Given the description of an element on the screen output the (x, y) to click on. 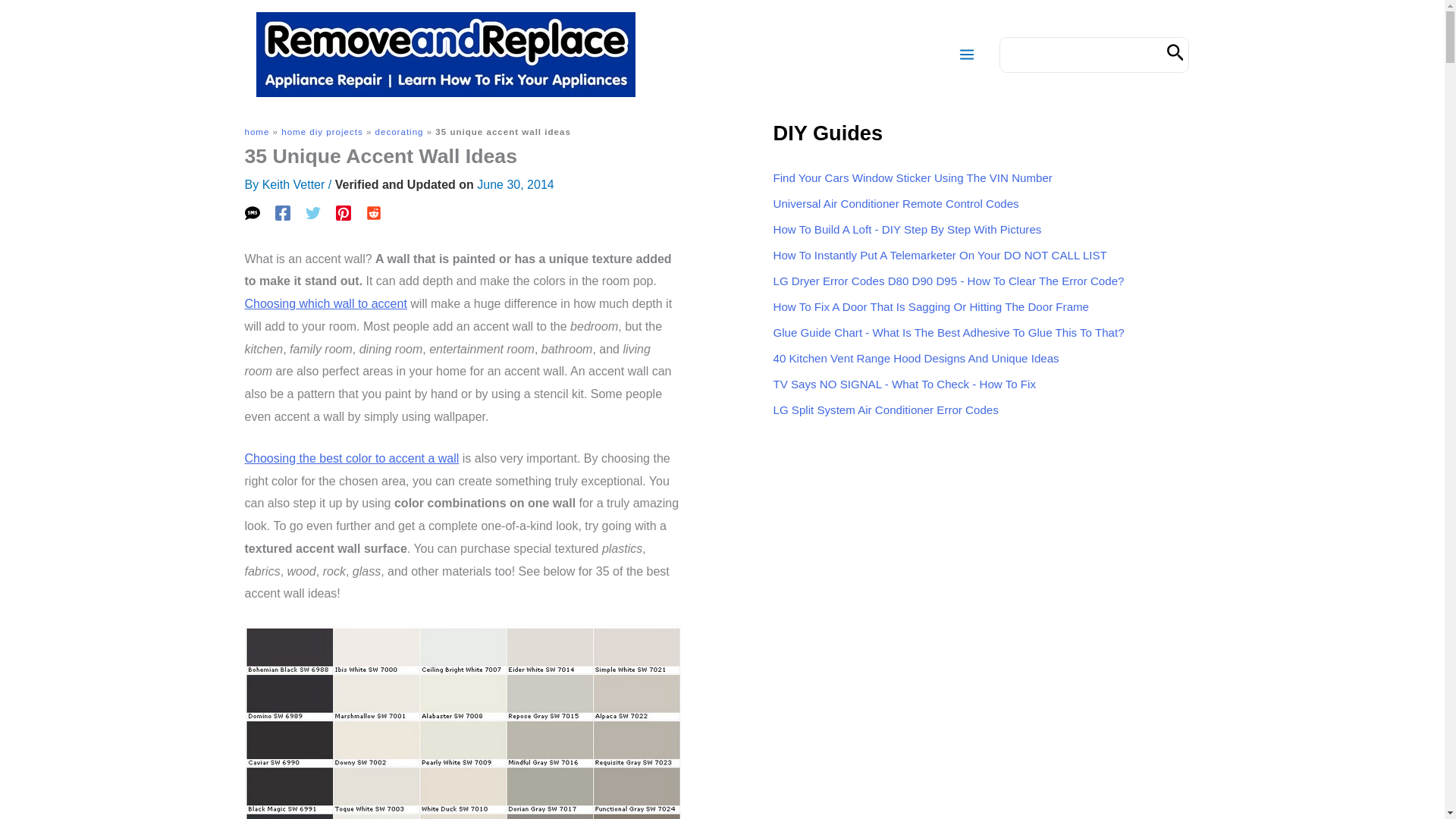
Main Menu (966, 54)
View all posts by Keith Vetter (293, 184)
where to put an accent wall (325, 303)
accent wall color combinations (351, 458)
